Given the description of an element on the screen output the (x, y) to click on. 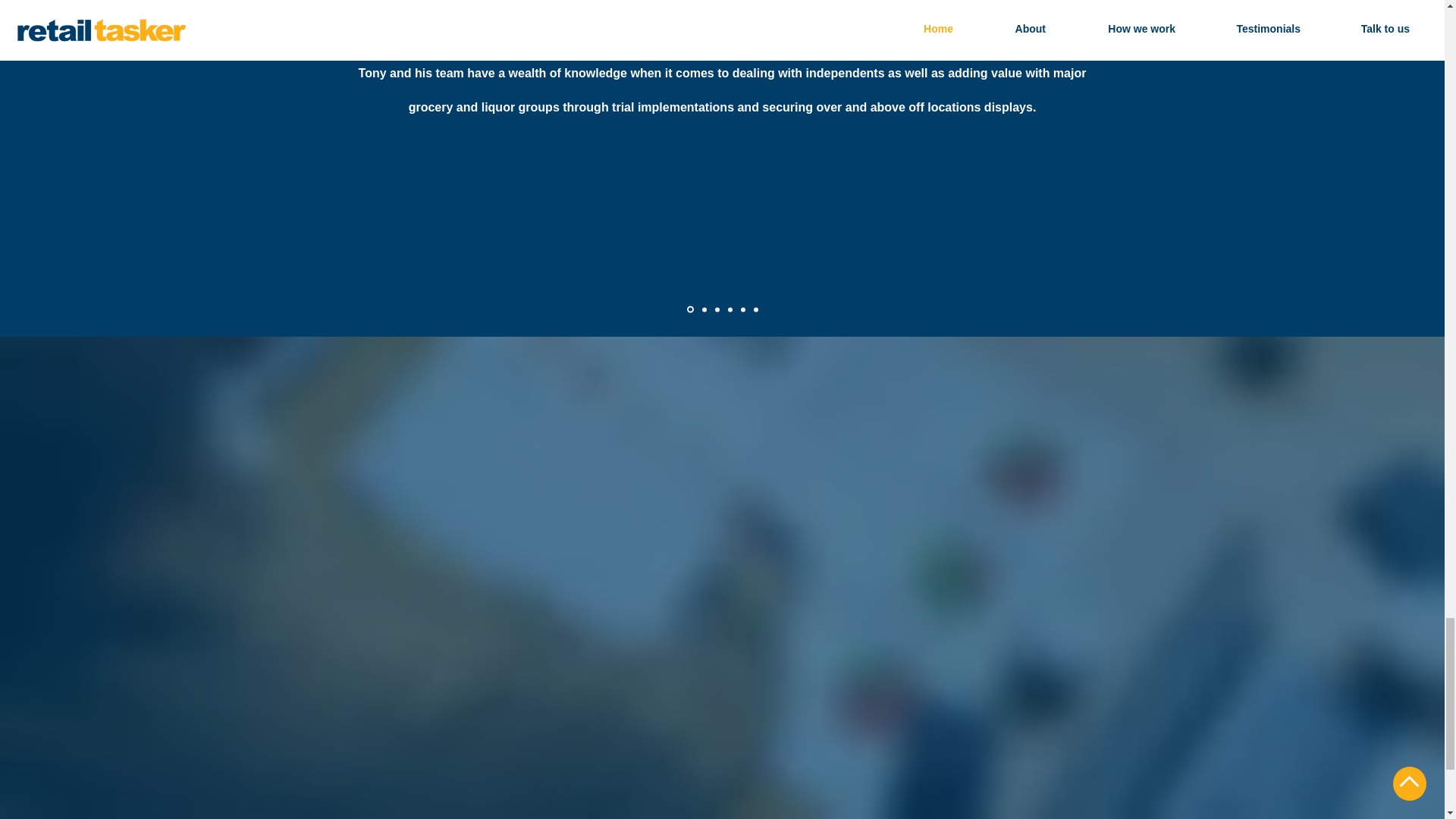
" (1001, 7)
